Given the description of an element on the screen output the (x, y) to click on. 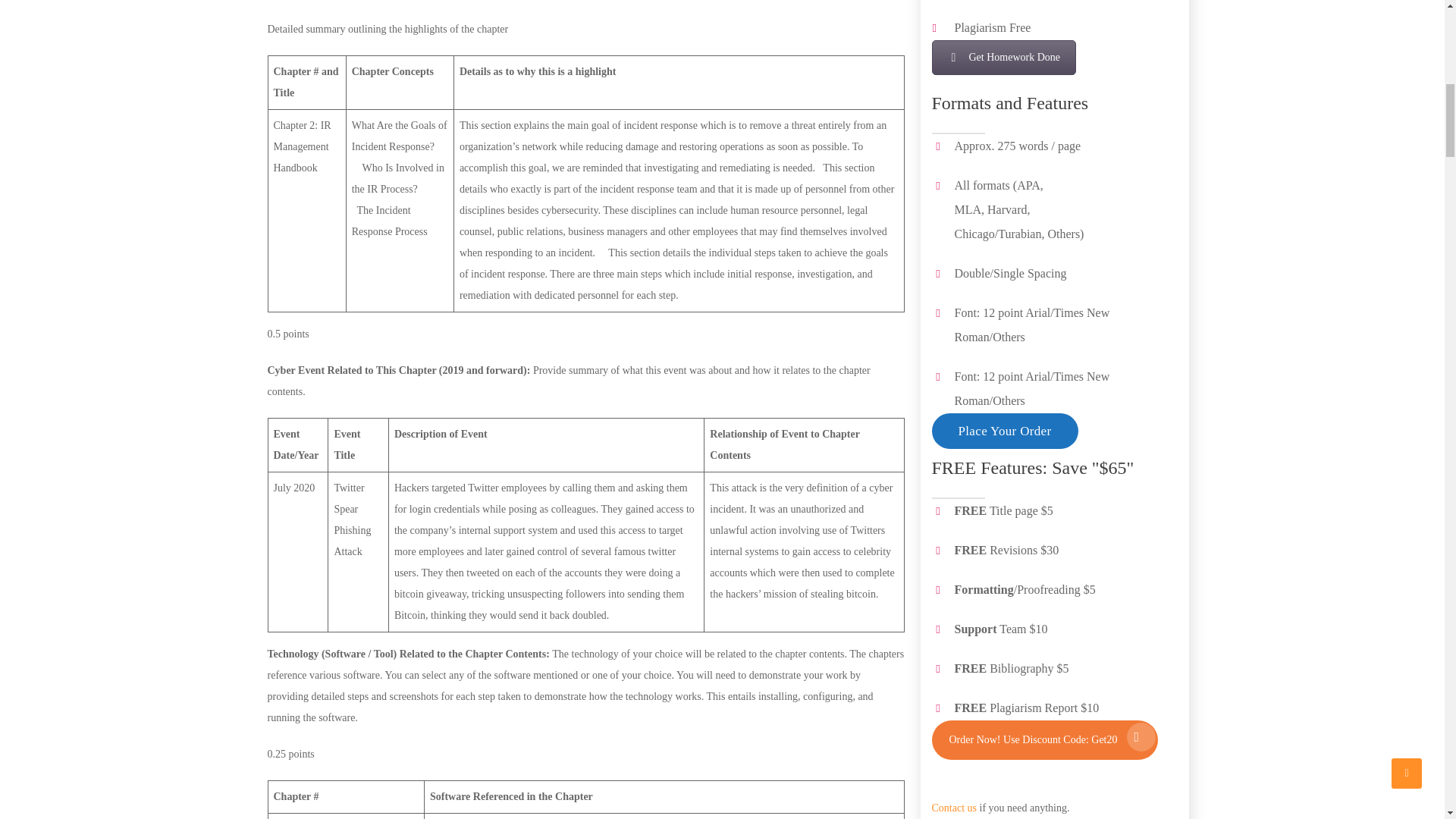
Search (1129, 792)
